Given the description of an element on the screen output the (x, y) to click on. 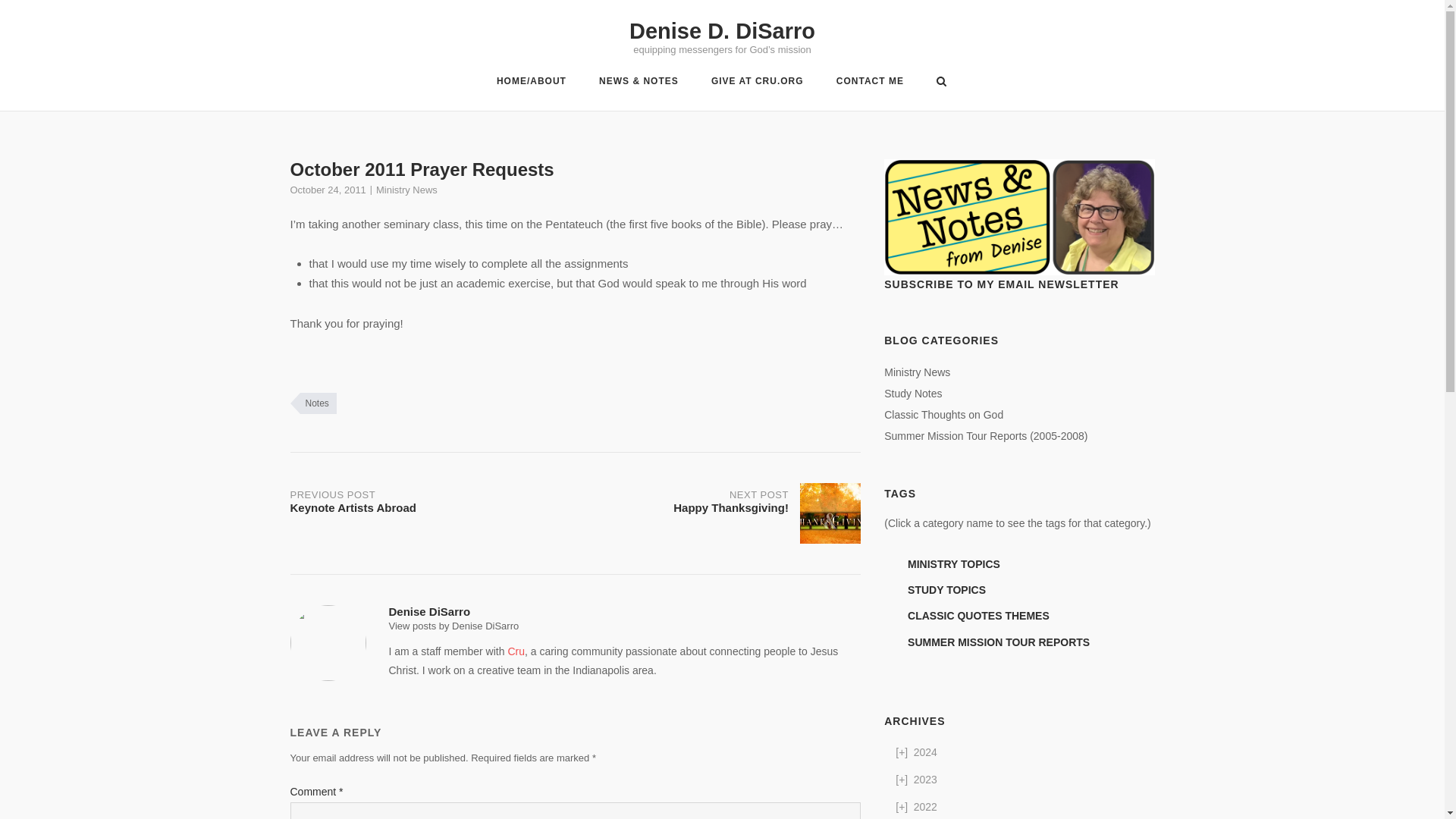
Ministry News (916, 372)
Denise D. DiSarro (721, 30)
Subscribe to my Email Newsletter (1018, 216)
Cru (515, 651)
CONTACT ME (869, 83)
View posts by Denise DiSarro (717, 513)
Notes (453, 625)
GIVE AT CRU.ORG (312, 403)
Classic Thoughts on God (757, 83)
Study Notes (943, 414)
Ministry News (912, 393)
